Given the description of an element on the screen output the (x, y) to click on. 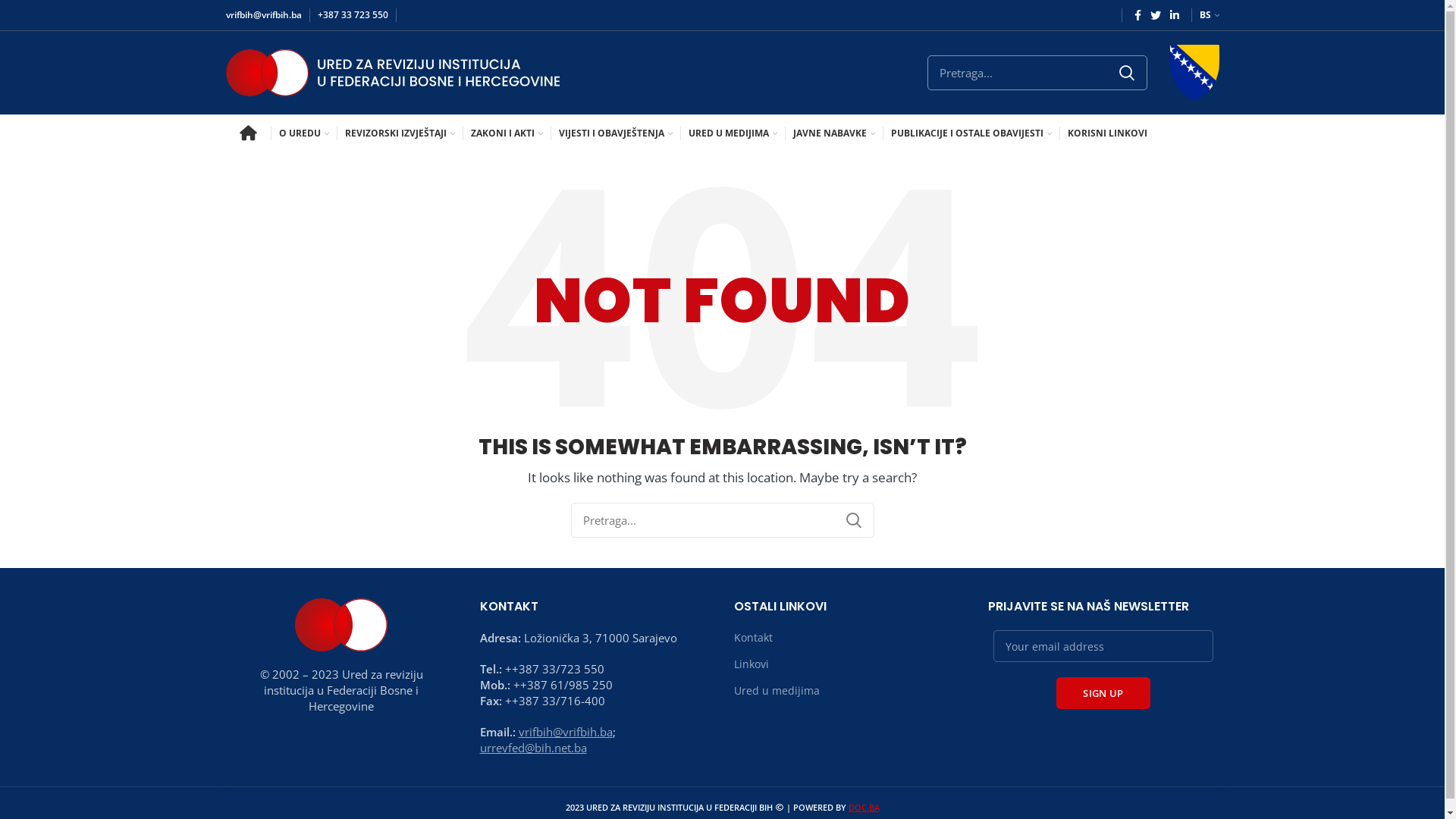
O UREDU Element type: text (303, 133)
Ured u medijima Element type: text (777, 690)
BS Element type: text (1209, 15)
vrifbih@vrifbih.ba Element type: text (263, 14)
ZAKONI I AKTI Element type: text (505, 133)
SIGN UP Element type: text (1102, 693)
JAVNE NABAVKE Element type: text (833, 133)
linkedin Element type: text (1173, 15)
Facebook Element type: text (1137, 15)
Linkovi Element type: text (752, 663)
PUBLIKACIJE I OSTALE OBAVIJESTI Element type: text (970, 133)
urrevfed@bih.net.ba Element type: text (532, 747)
SEARCH Element type: text (1126, 72)
vrifbih@vrifbih.ba Element type: text (565, 731)
SEARCH Element type: text (853, 519)
KORISNI LINKOVI Element type: text (1107, 133)
Kontakt Element type: text (754, 637)
DOC.BA Element type: text (862, 806)
URED U MEDIJIMA Element type: text (732, 133)
Twitter Element type: text (1154, 15)
